Given the description of an element on the screen output the (x, y) to click on. 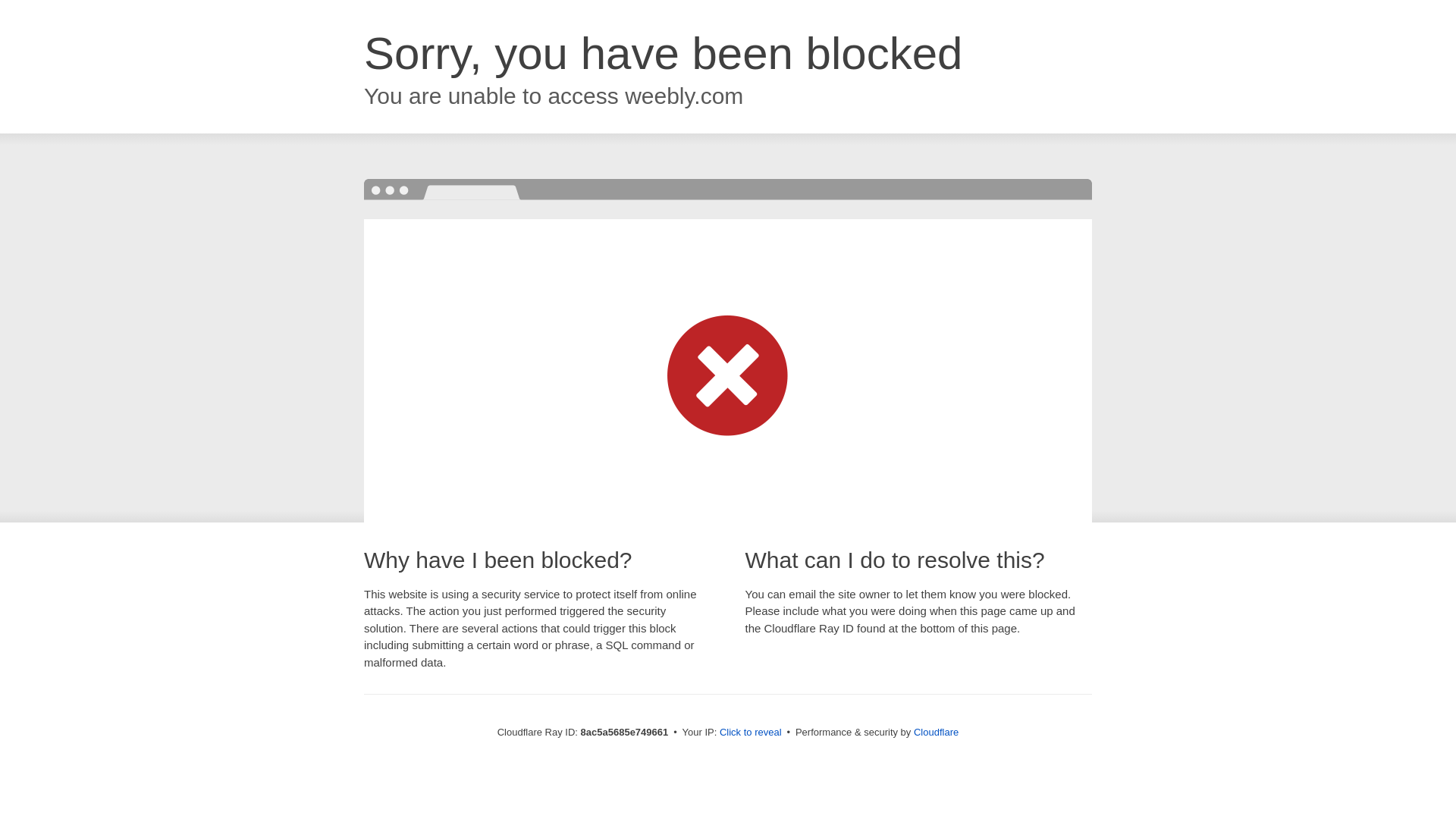
Click to reveal (750, 732)
Cloudflare (936, 731)
